Given the description of an element on the screen output the (x, y) to click on. 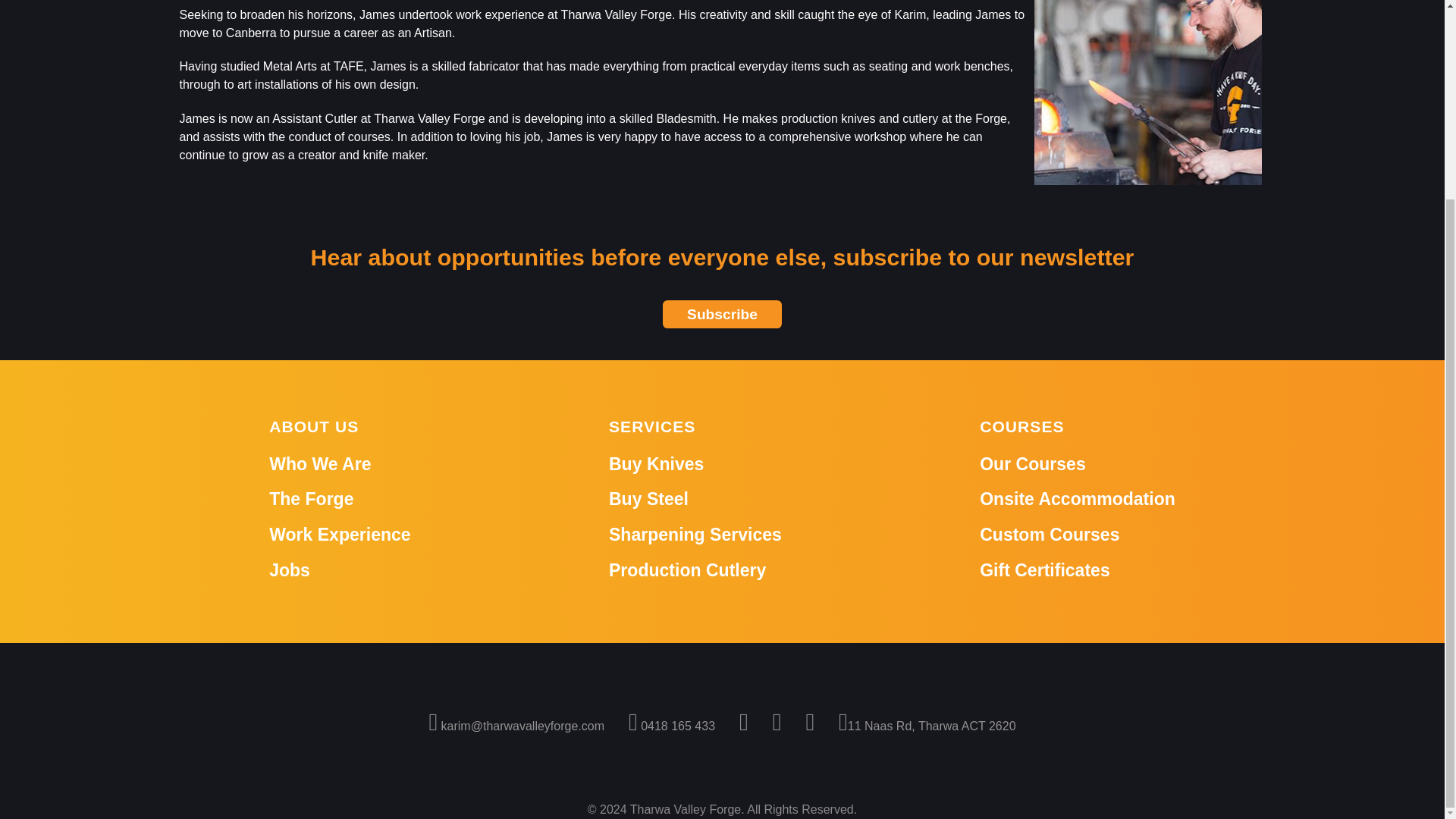
Subscribe (721, 313)
Onsite Accommodation (1076, 498)
Buy Knives (655, 464)
Production Cutlery (686, 569)
Buy Steel (648, 498)
Work Experience (339, 534)
Gift Certificates (1044, 569)
Sharpening Services (694, 534)
Subscribe (721, 313)
Who We Are (320, 464)
